Given the description of an element on the screen output the (x, y) to click on. 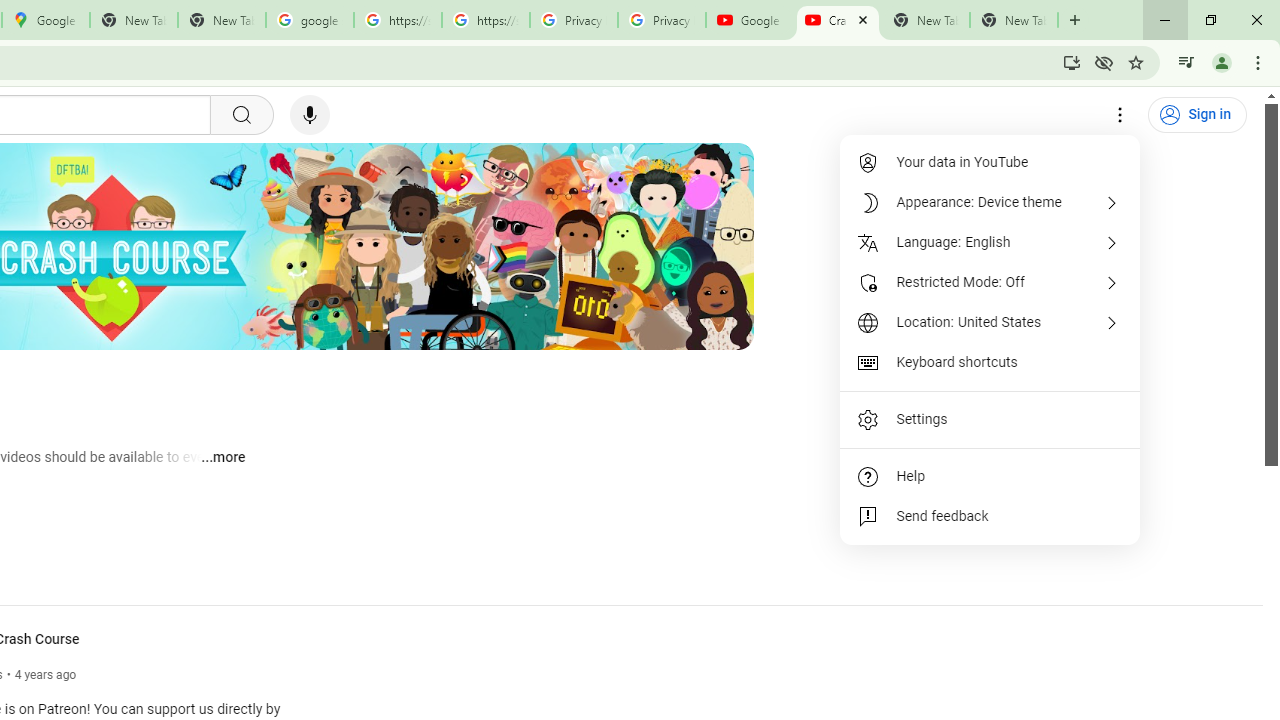
Search with your voice (309, 115)
New Tab (1014, 20)
Location: United States (989, 322)
Google - YouTube (749, 20)
Install YouTube (1071, 62)
Send feedback (989, 516)
Keyboard shortcuts (989, 362)
